Given the description of an element on the screen output the (x, y) to click on. 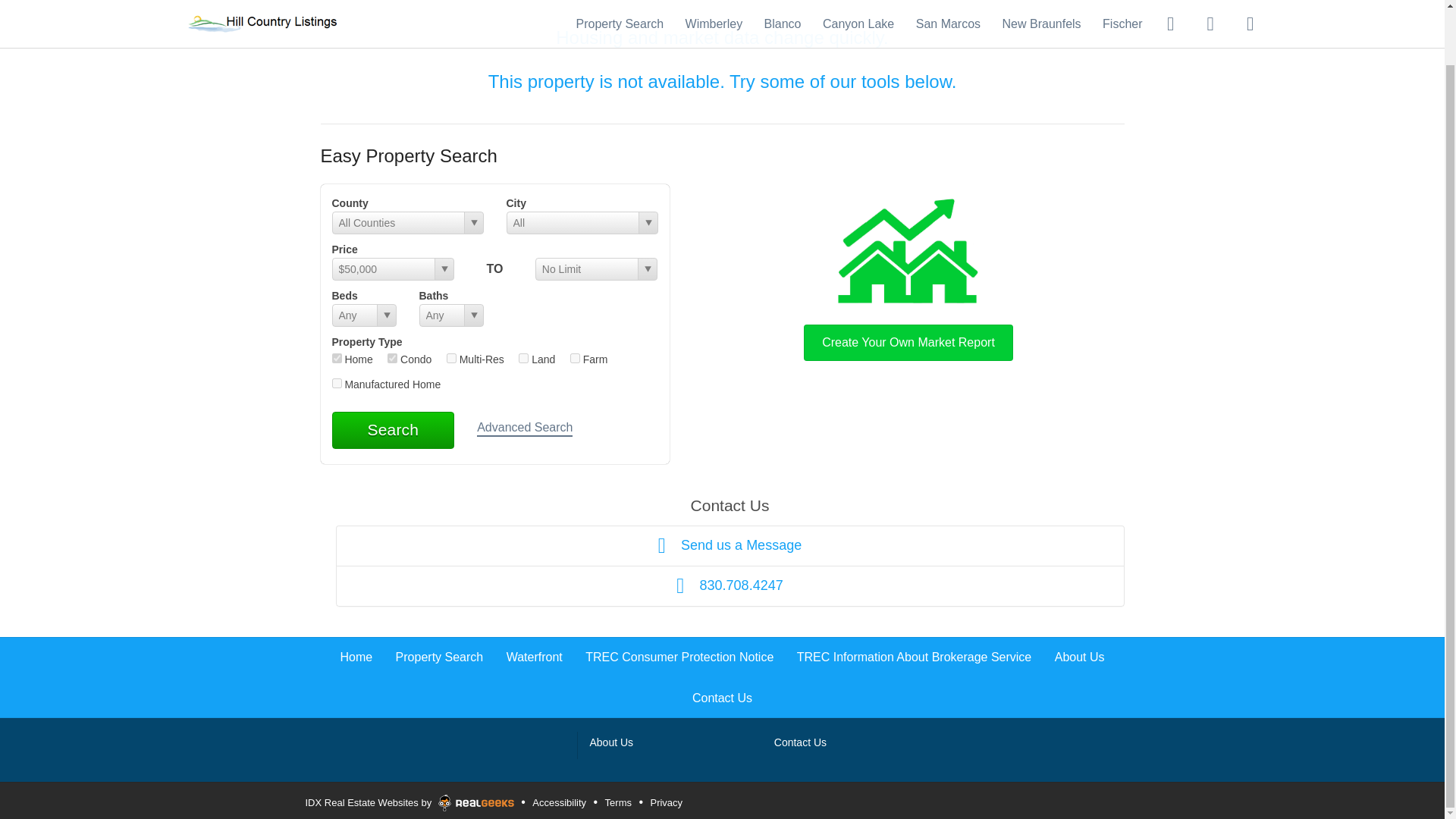
Privacy (665, 802)
Contact Us (800, 742)
Waterfront (534, 656)
Contact Us (722, 697)
frm (574, 357)
Create Your Own Market Report (908, 276)
lnd (523, 357)
Home (355, 656)
IDX Real Estate Websites by (409, 799)
TREC Consumer Protection Notice (679, 656)
Property Search (439, 656)
Search (392, 429)
Terms (617, 802)
mul (451, 357)
Advanced Search (524, 428)
